Given the description of an element on the screen output the (x, y) to click on. 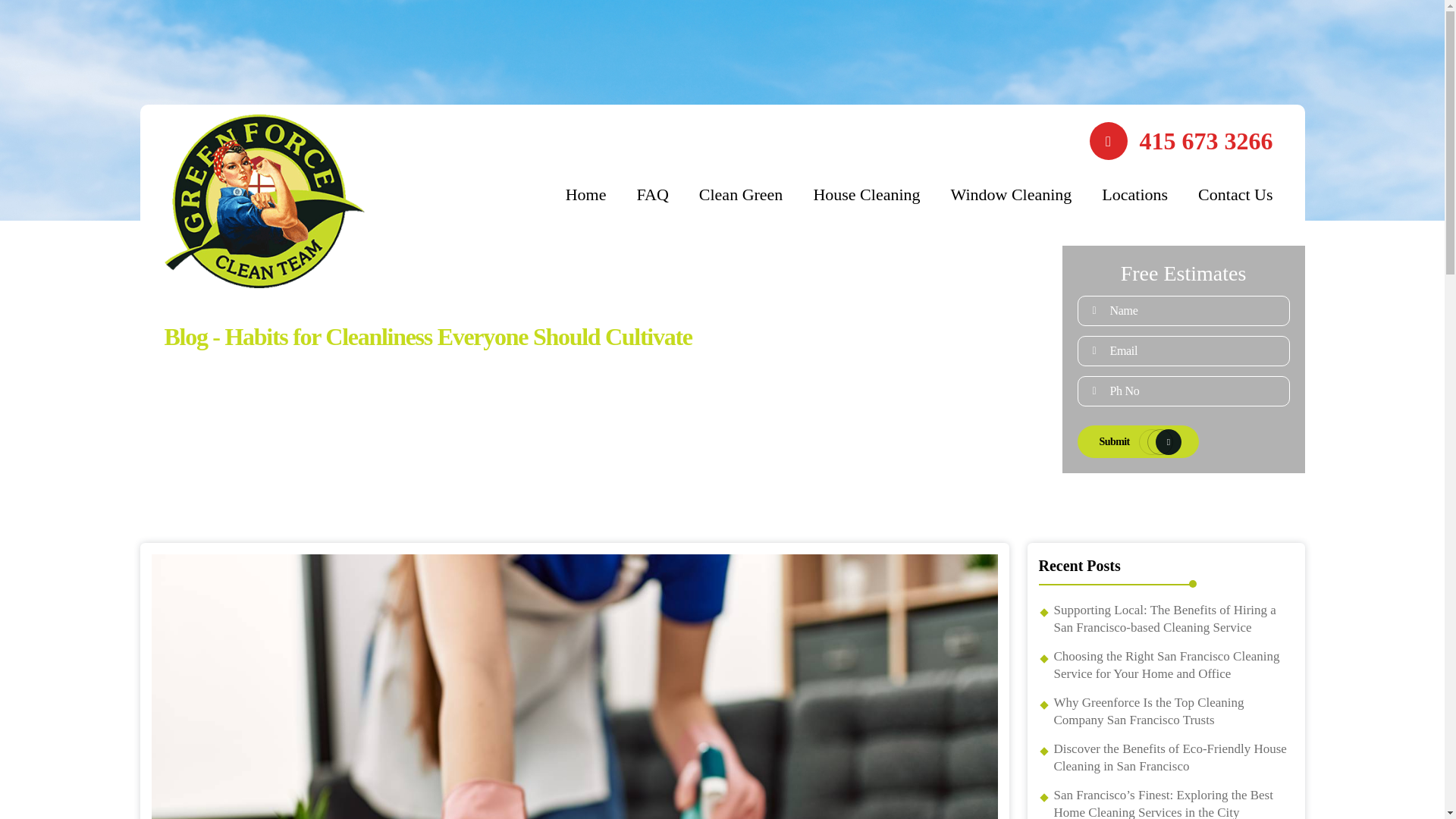
Submit (1137, 441)
Clean Green (740, 194)
FAQ (652, 194)
Contact Us (1235, 194)
Locations (1134, 194)
415 673 3266 (1180, 140)
Home (586, 194)
Submit (1137, 441)
Window Cleaning (1010, 194)
House Cleaning (866, 194)
